Given the description of an element on the screen output the (x, y) to click on. 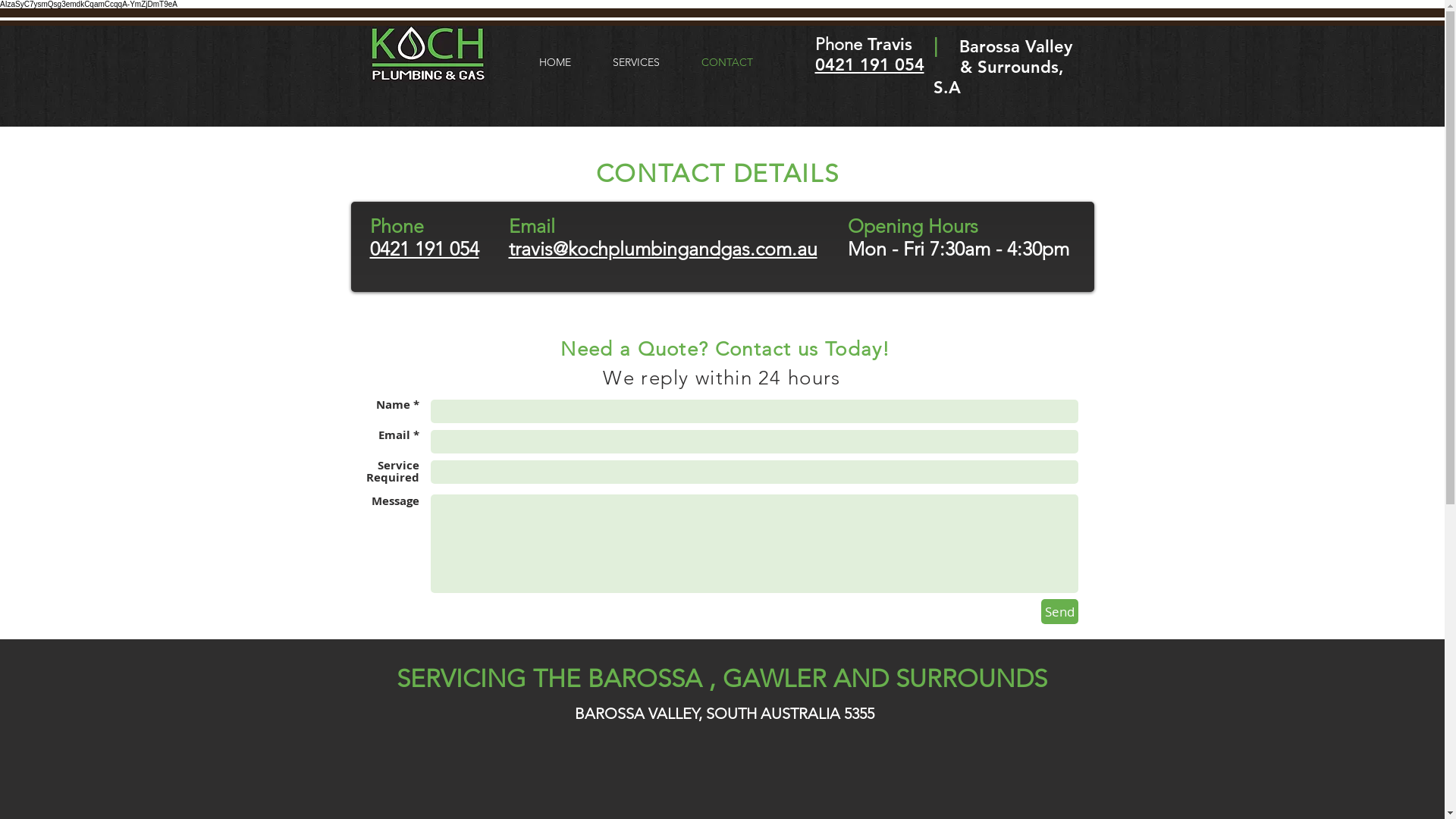
Send Element type: text (1058, 611)
CONTACT Element type: text (726, 62)
SERVICES Element type: text (635, 62)
0421 191 054    Element type: text (871, 74)
     & Surrounds, S.A Element type: text (997, 76)
travis@kochplumbingandgas.com.au Element type: text (662, 248)
0421 191 054 Element type: text (424, 248)
HOME Element type: text (555, 62)
